Given the description of an element on the screen output the (x, y) to click on. 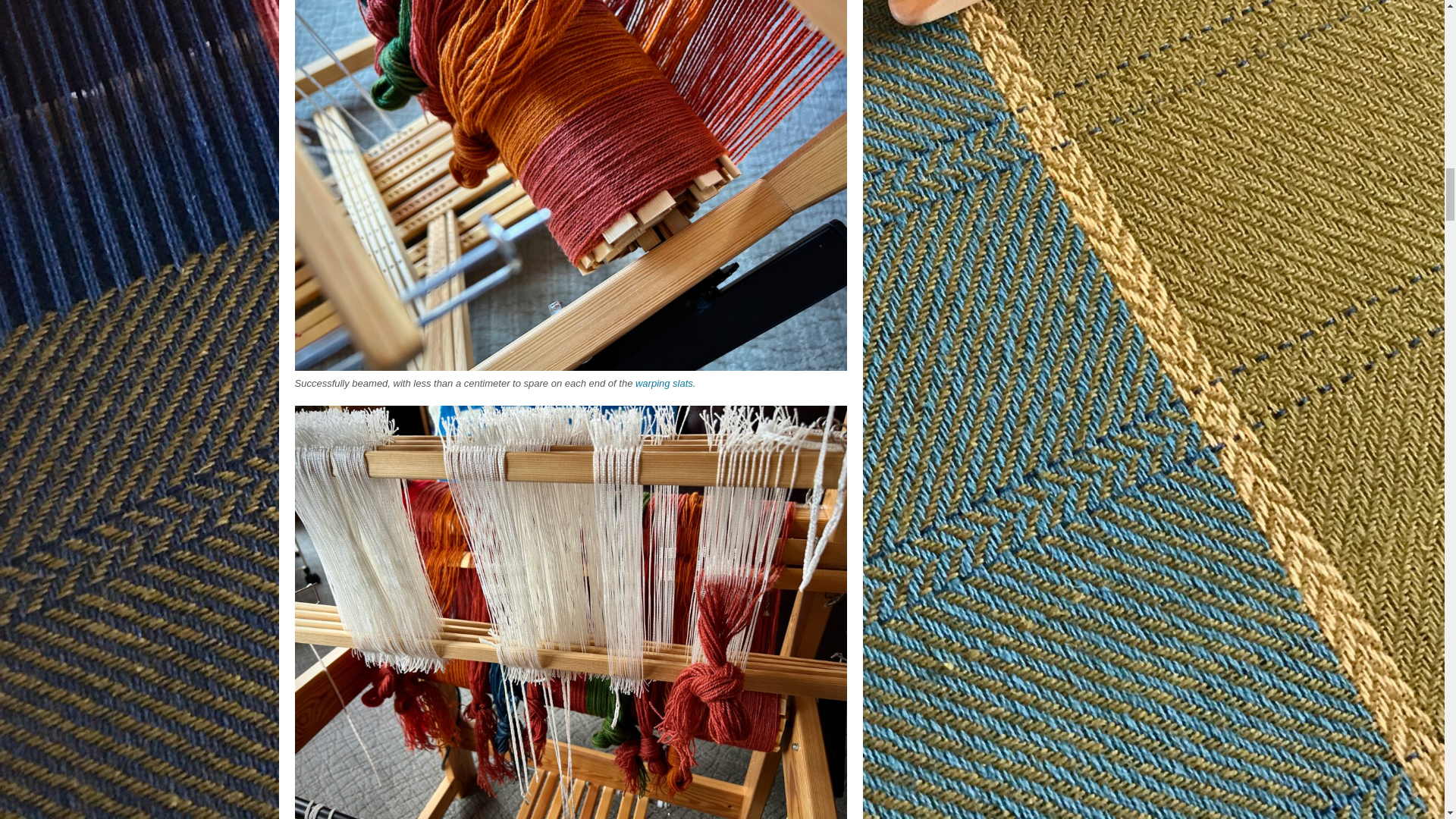
Successfully Beamed (569, 362)
Threading (569, 811)
warping slats (663, 383)
